Given the description of an element on the screen output the (x, y) to click on. 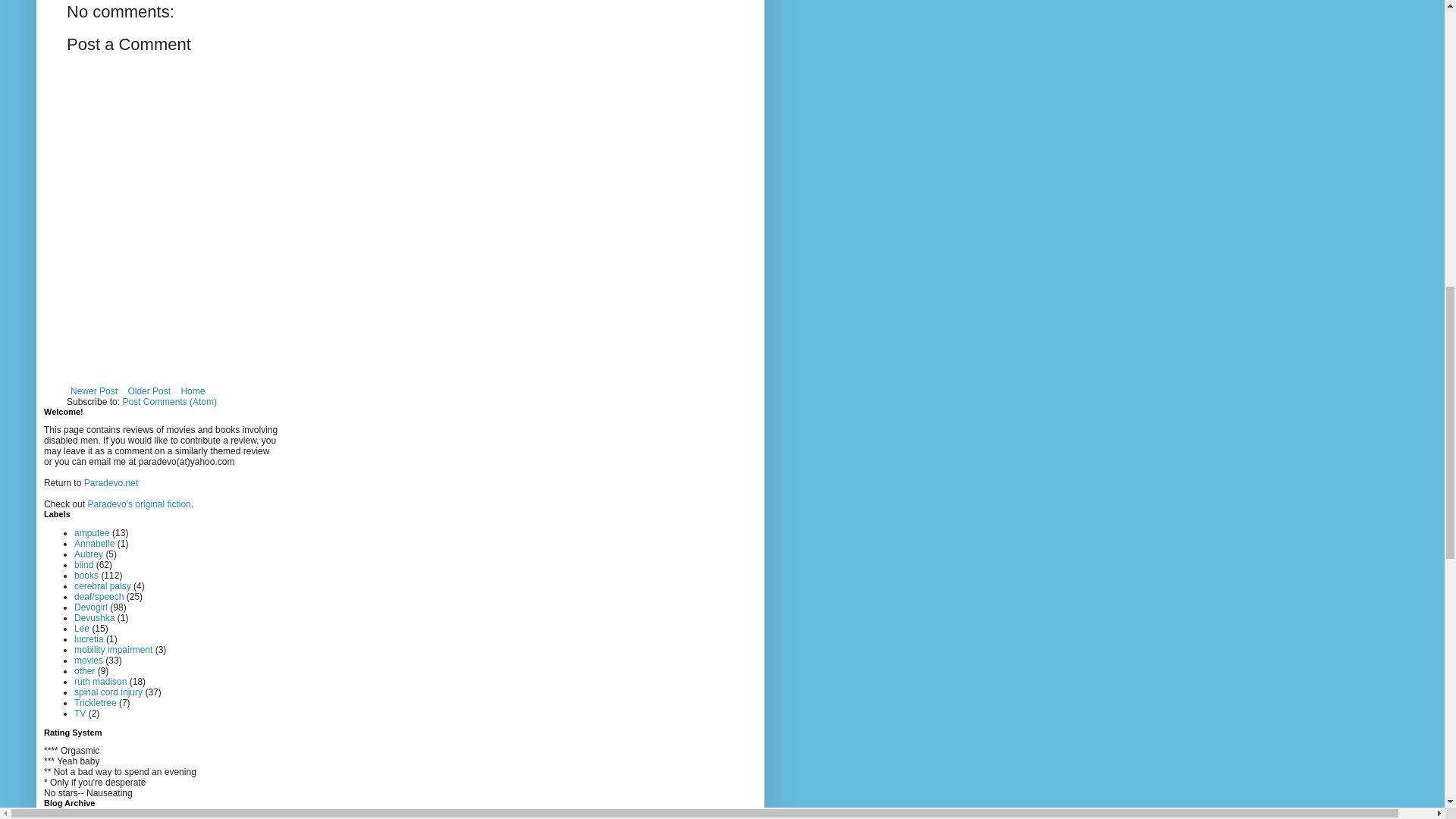
blind (83, 564)
Paradevo's original fiction (138, 503)
Newer Post (93, 391)
TV (79, 713)
Home (192, 391)
cerebral palsy (102, 585)
other (84, 670)
Lee (81, 628)
Newer Post (93, 391)
Devogirl (90, 606)
Older Post (148, 391)
Devushka (94, 617)
spinal cord injury (108, 692)
Aubrey (88, 553)
Older Post (148, 391)
